Given the description of an element on the screen output the (x, y) to click on. 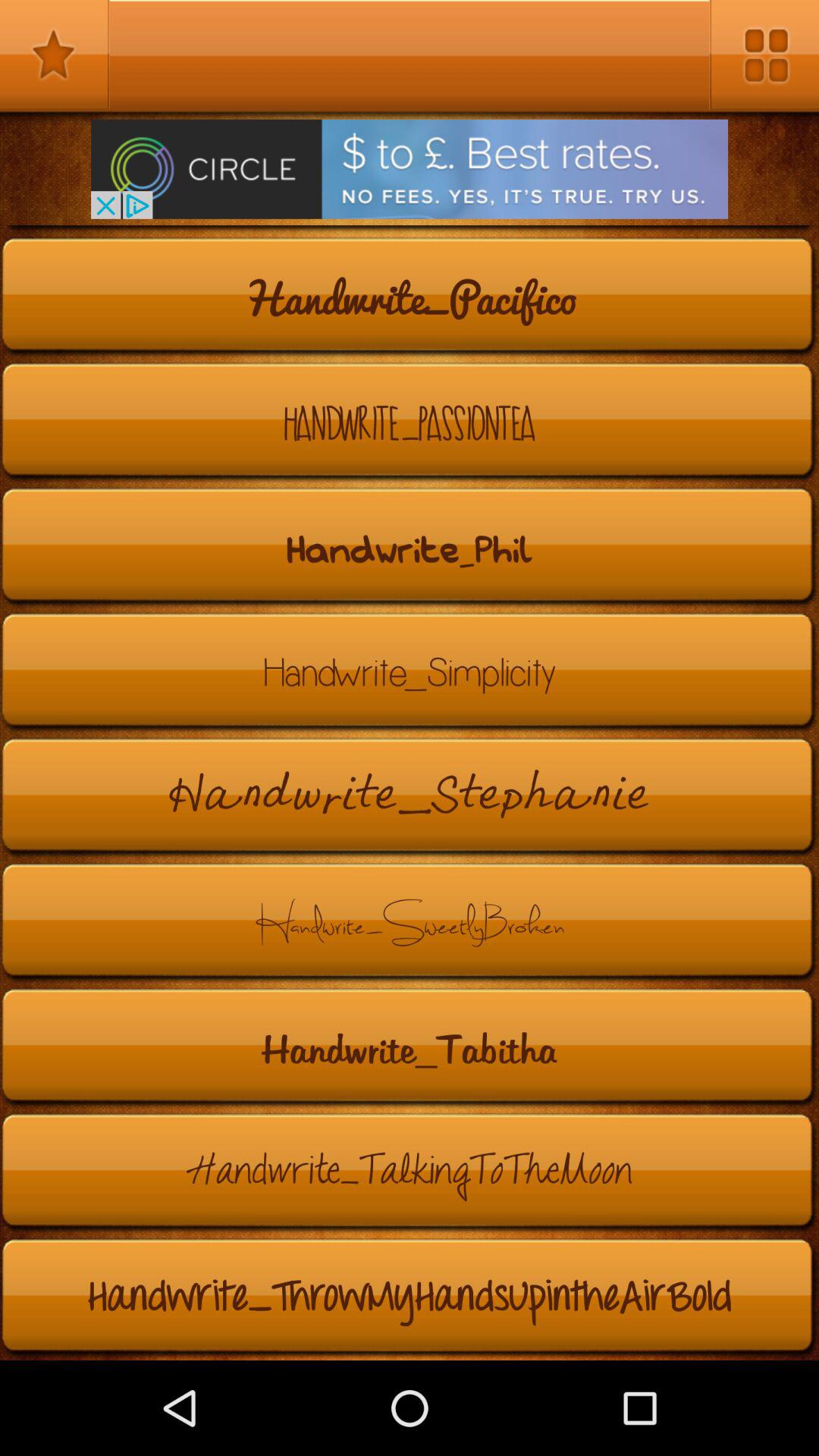
view favorite fonts (54, 54)
